Given the description of an element on the screen output the (x, y) to click on. 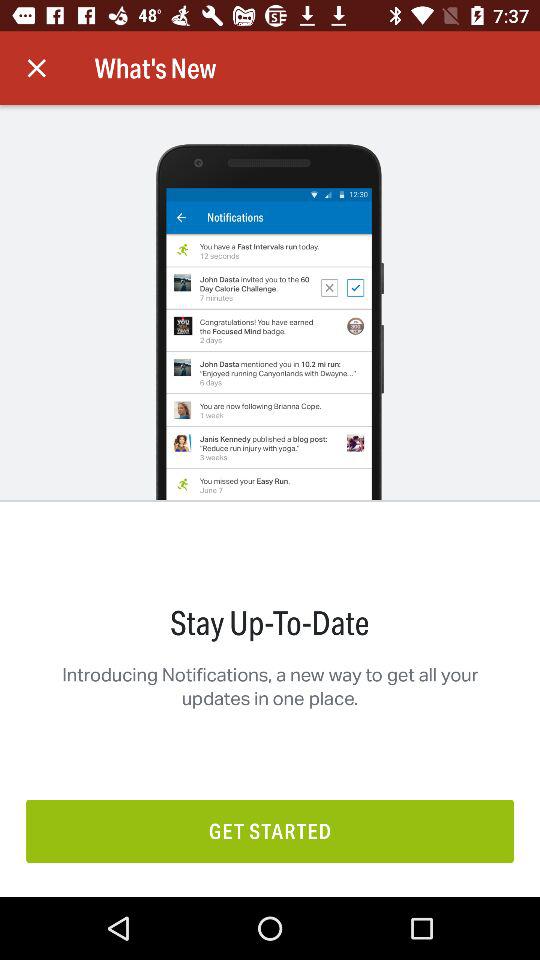
turn on the item below introducing notifications a (269, 830)
